Given the description of an element on the screen output the (x, y) to click on. 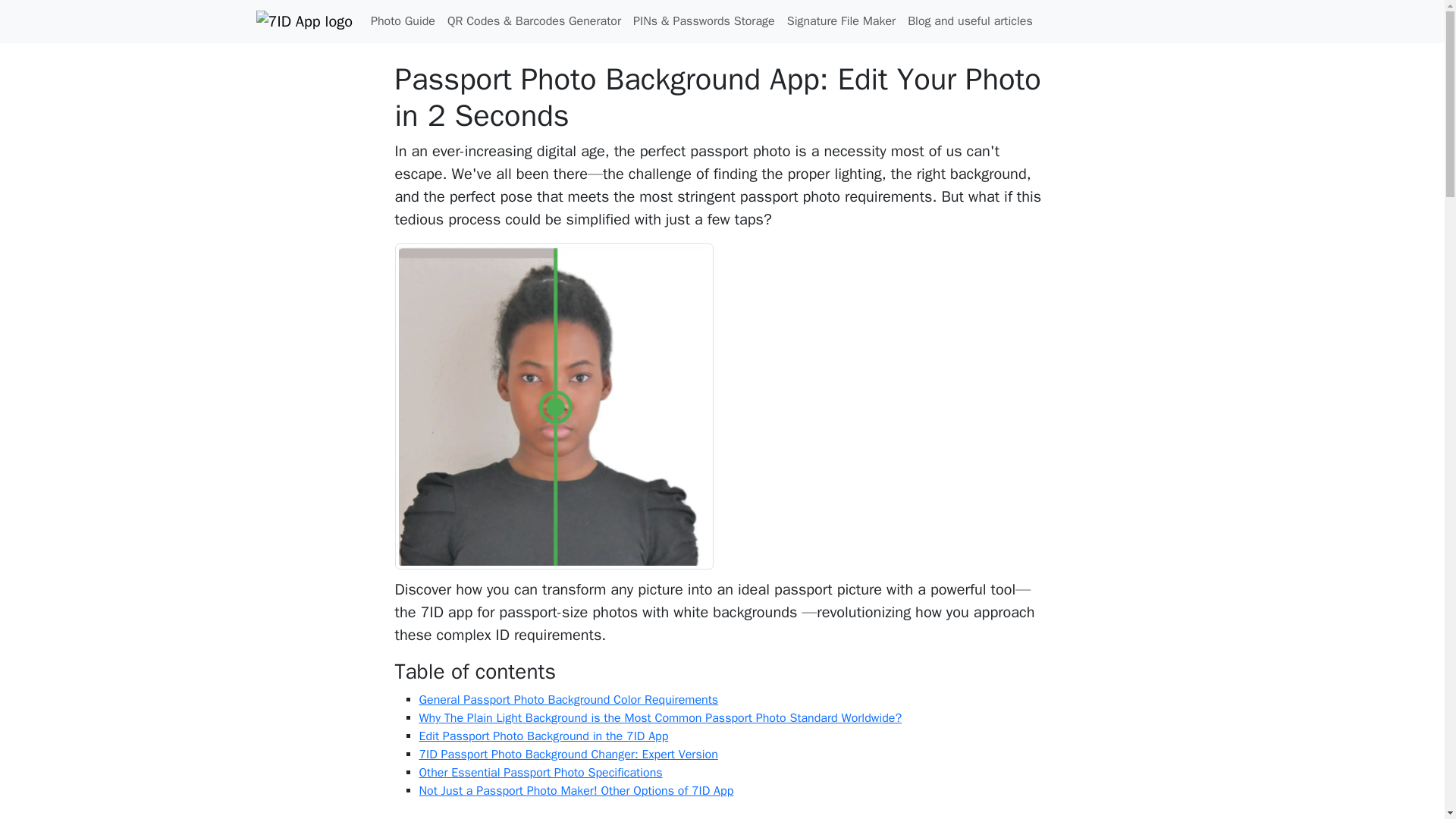
Blog and useful articles (970, 20)
Edit Passport Photo Background in the 7ID App (543, 735)
7ID Passport Photo Background Changer: Expert Version (568, 754)
Other Essential Passport Photo Specifications (540, 772)
Photo Guide (403, 20)
Not Just a Passport Photo Maker! Other Options of 7ID App (576, 790)
Signature File Maker (840, 20)
General Passport Photo Background Color Requirements (568, 699)
